Given the description of an element on the screen output the (x, y) to click on. 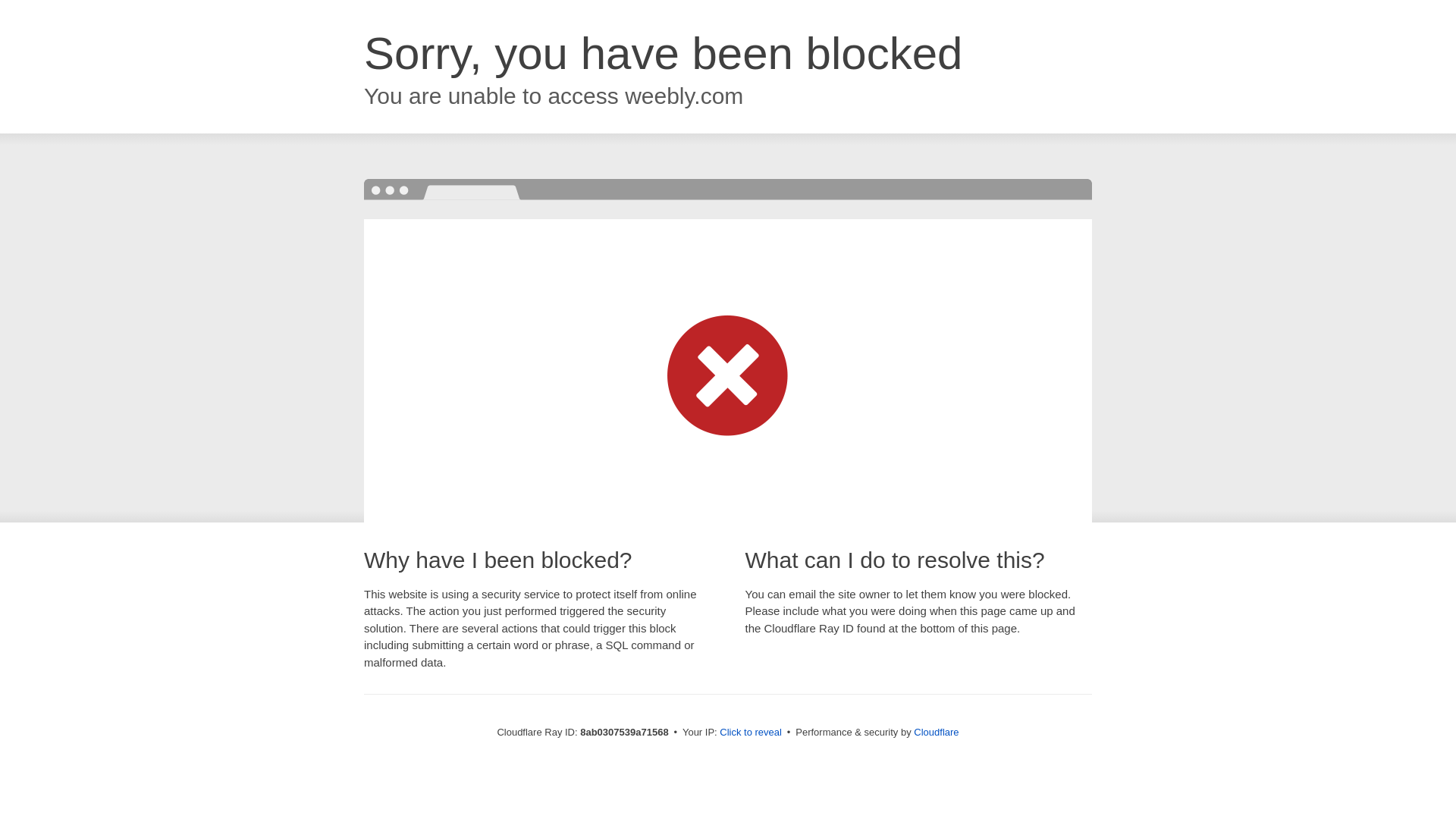
Click to reveal (750, 732)
Cloudflare (936, 731)
